Given the description of an element on the screen output the (x, y) to click on. 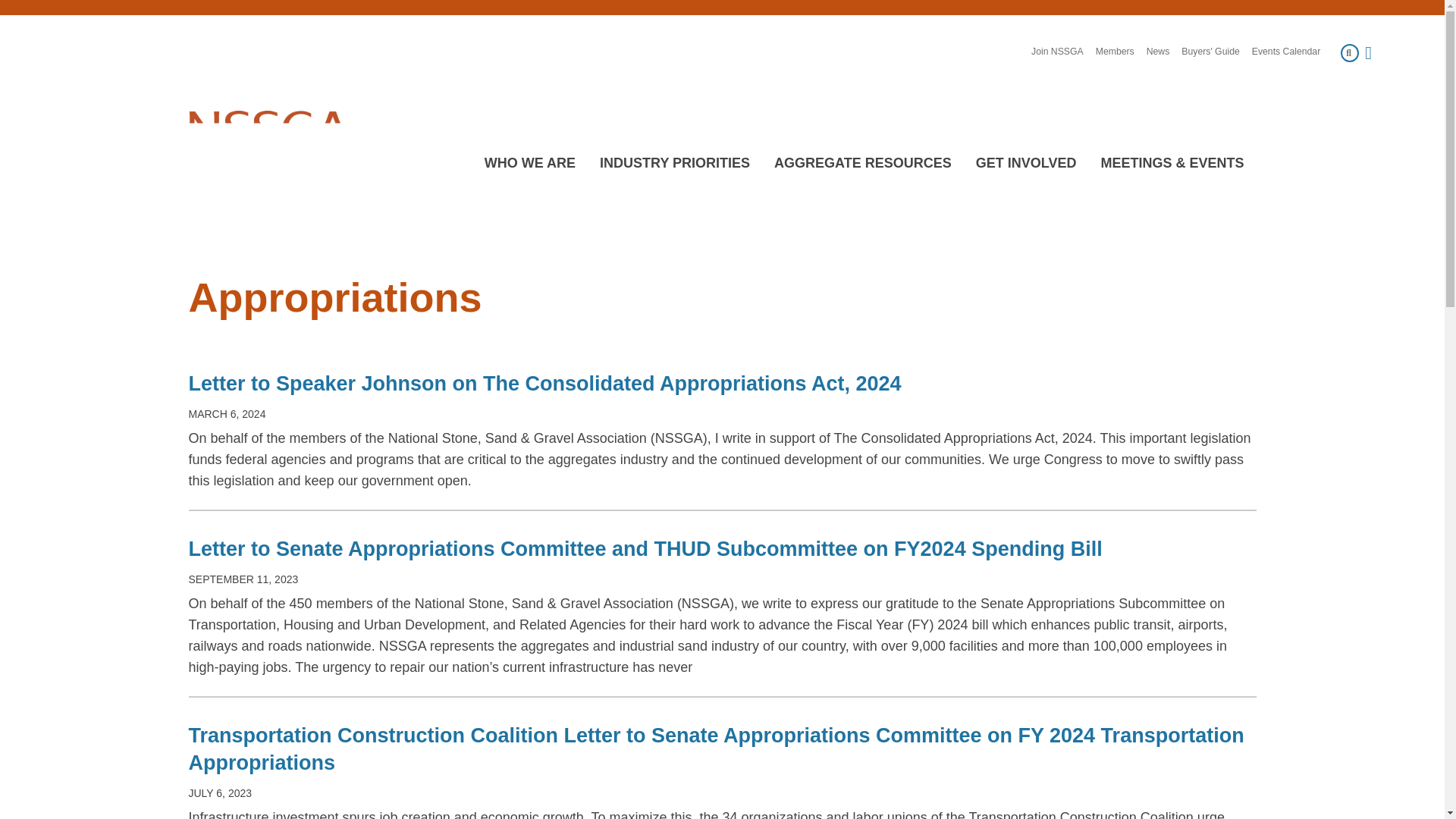
Members (1115, 51)
Buyers' Guide (1209, 51)
News (1158, 51)
Events Calendar (1286, 51)
Join NSSGA (1056, 51)
